Given the description of an element on the screen output the (x, y) to click on. 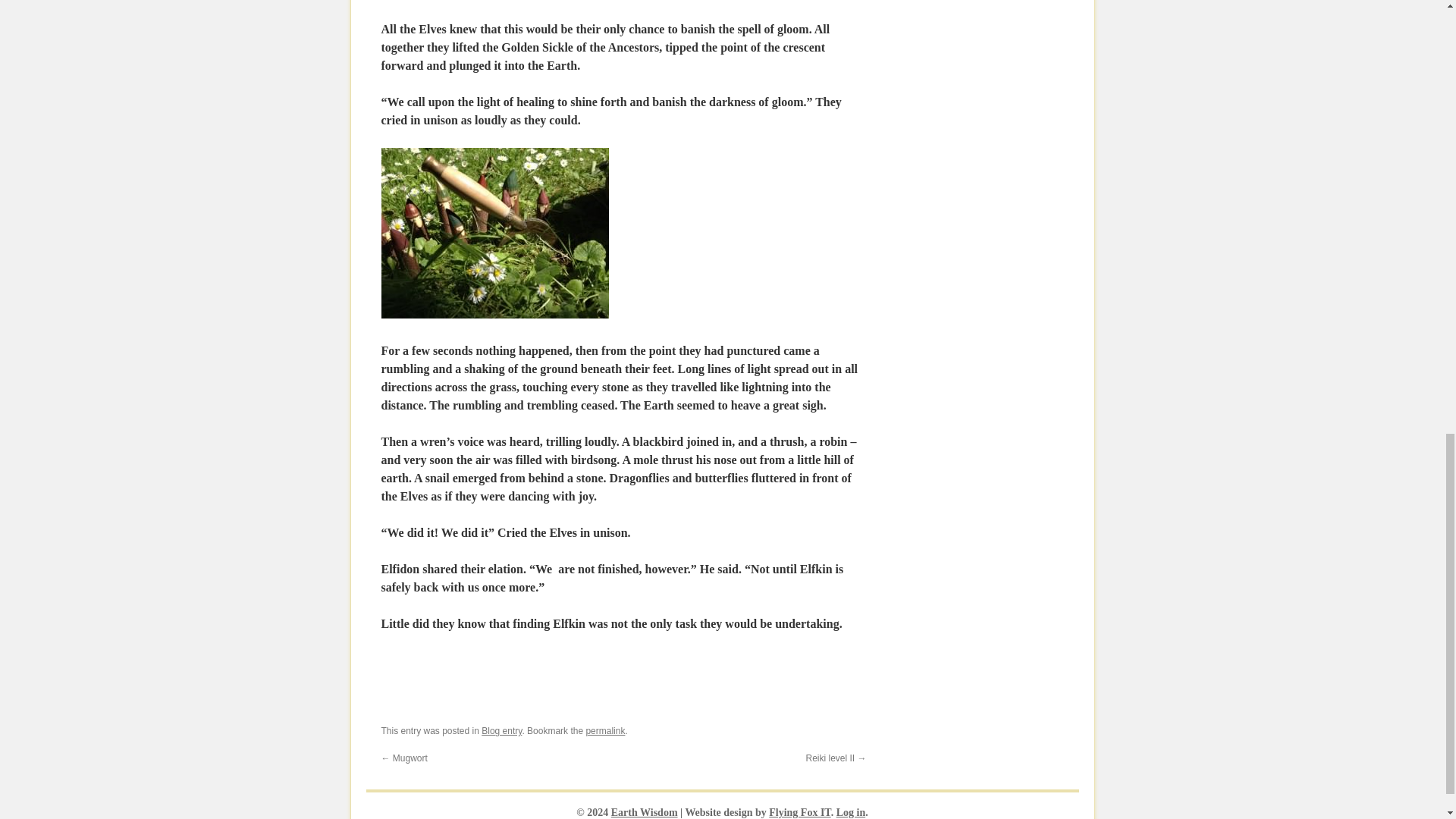
Earth Wisdom (644, 812)
Permalink to Reawakening the Stone Circle (604, 730)
permalink (604, 730)
Flying Fox IT (798, 812)
Blog entry (501, 730)
